Given the description of an element on the screen output the (x, y) to click on. 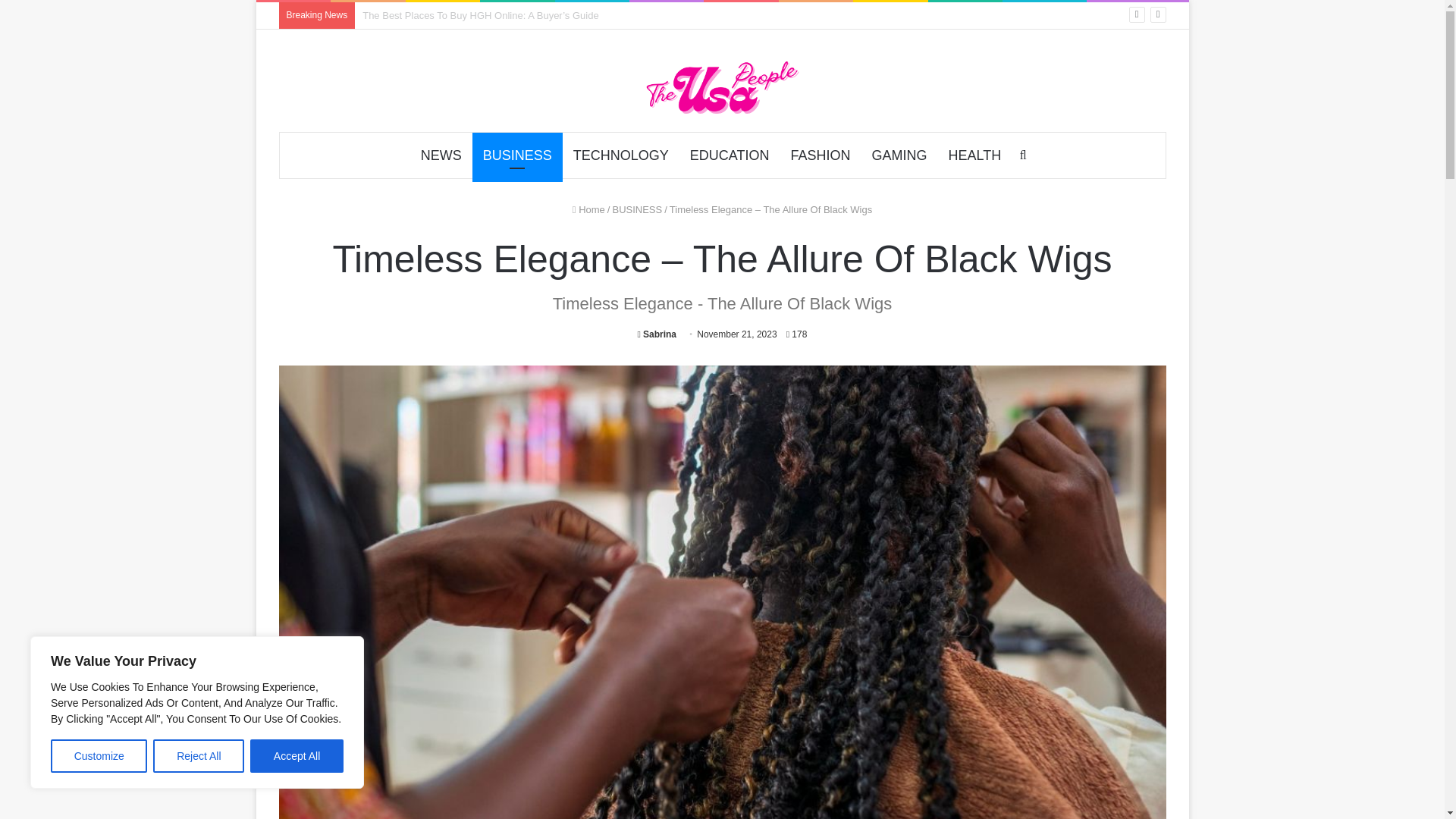
Home (588, 209)
Reject All (198, 756)
The Usa People (721, 86)
BUSINESS (516, 155)
Accept All (296, 756)
NEWS (440, 155)
Sabrina (657, 334)
FASHION (819, 155)
Customize (98, 756)
Sabrina (657, 334)
